Given the description of an element on the screen output the (x, y) to click on. 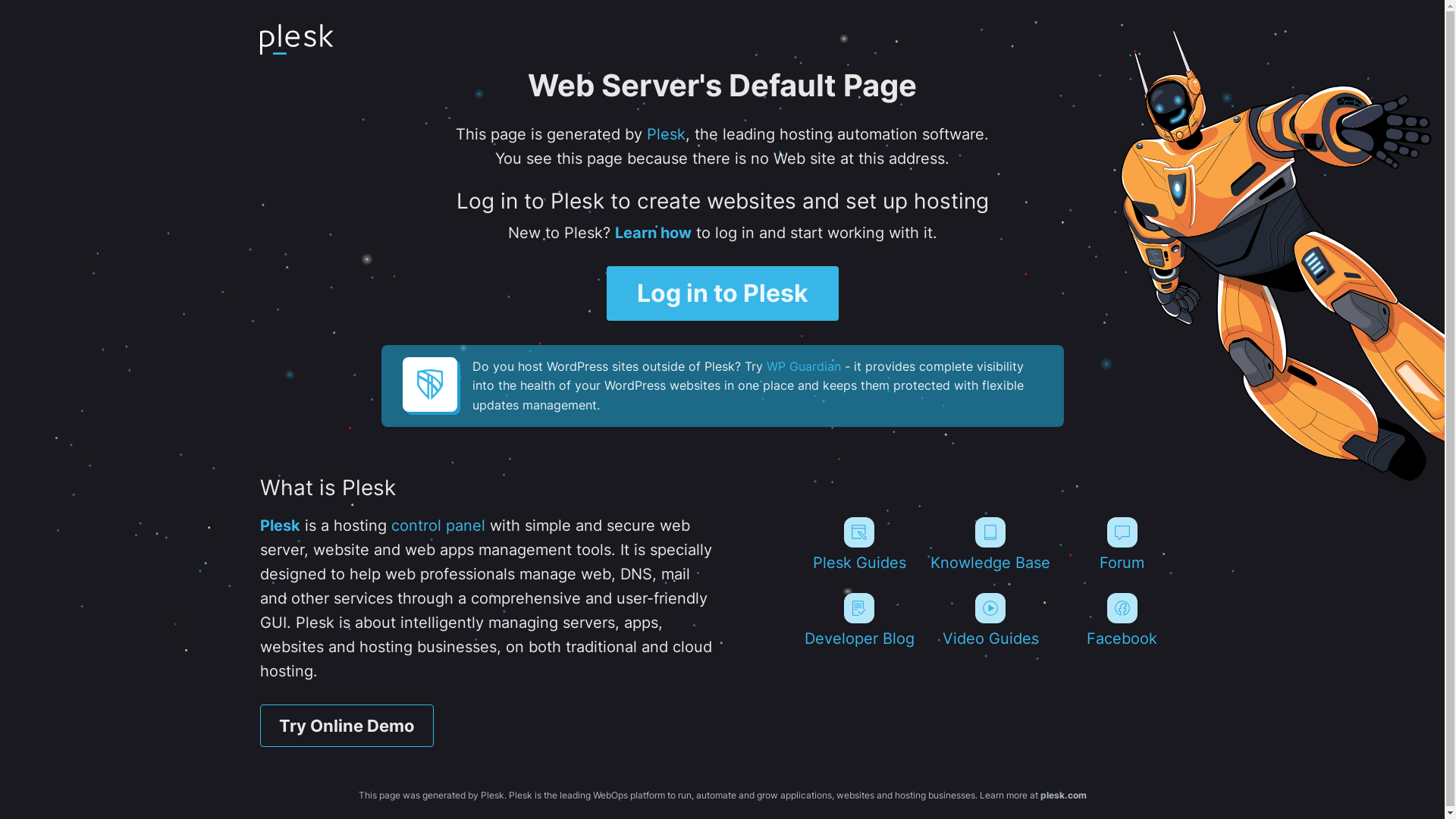
Forum Element type: text (1121, 544)
Plesk Element type: text (665, 134)
Plesk Guides Element type: text (858, 544)
Developer Blog Element type: text (858, 620)
Plesk Element type: text (279, 525)
Knowledge Base Element type: text (990, 544)
WP Guardian Element type: text (802, 365)
Facebook Element type: text (1121, 620)
control panel Element type: text (438, 525)
plesk.com Element type: text (1063, 794)
Try Online Demo Element type: text (346, 725)
Video Guides Element type: text (990, 620)
Log in to Plesk Element type: text (722, 293)
Learn how Element type: text (652, 232)
